Given the description of an element on the screen output the (x, y) to click on. 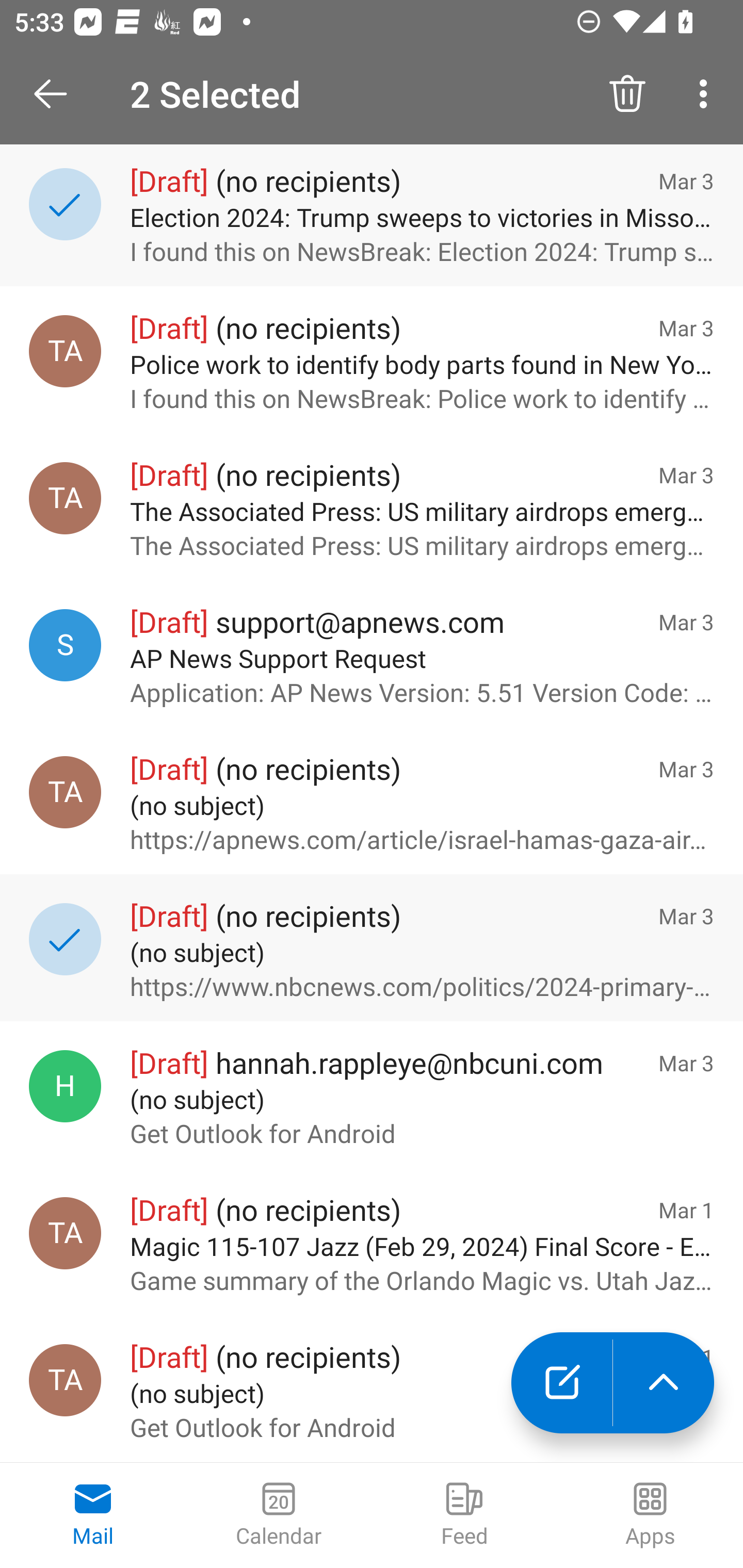
Delete (626, 93)
More options (706, 93)
Open Navigation Drawer (57, 94)
Test Appium, testappium002@outlook.com (64, 351)
Test Appium, testappium002@outlook.com (64, 498)
support@apnews.com (64, 645)
Test Appium, testappium002@outlook.com (64, 791)
hannah.rappleye@nbcuni.com (64, 1086)
Test Appium, testappium002@outlook.com (64, 1233)
New mail (561, 1382)
launch the extended action menu (663, 1382)
Test Appium, testappium002@outlook.com (64, 1379)
Calendar (278, 1515)
Feed (464, 1515)
Apps (650, 1515)
